Given the description of an element on the screen output the (x, y) to click on. 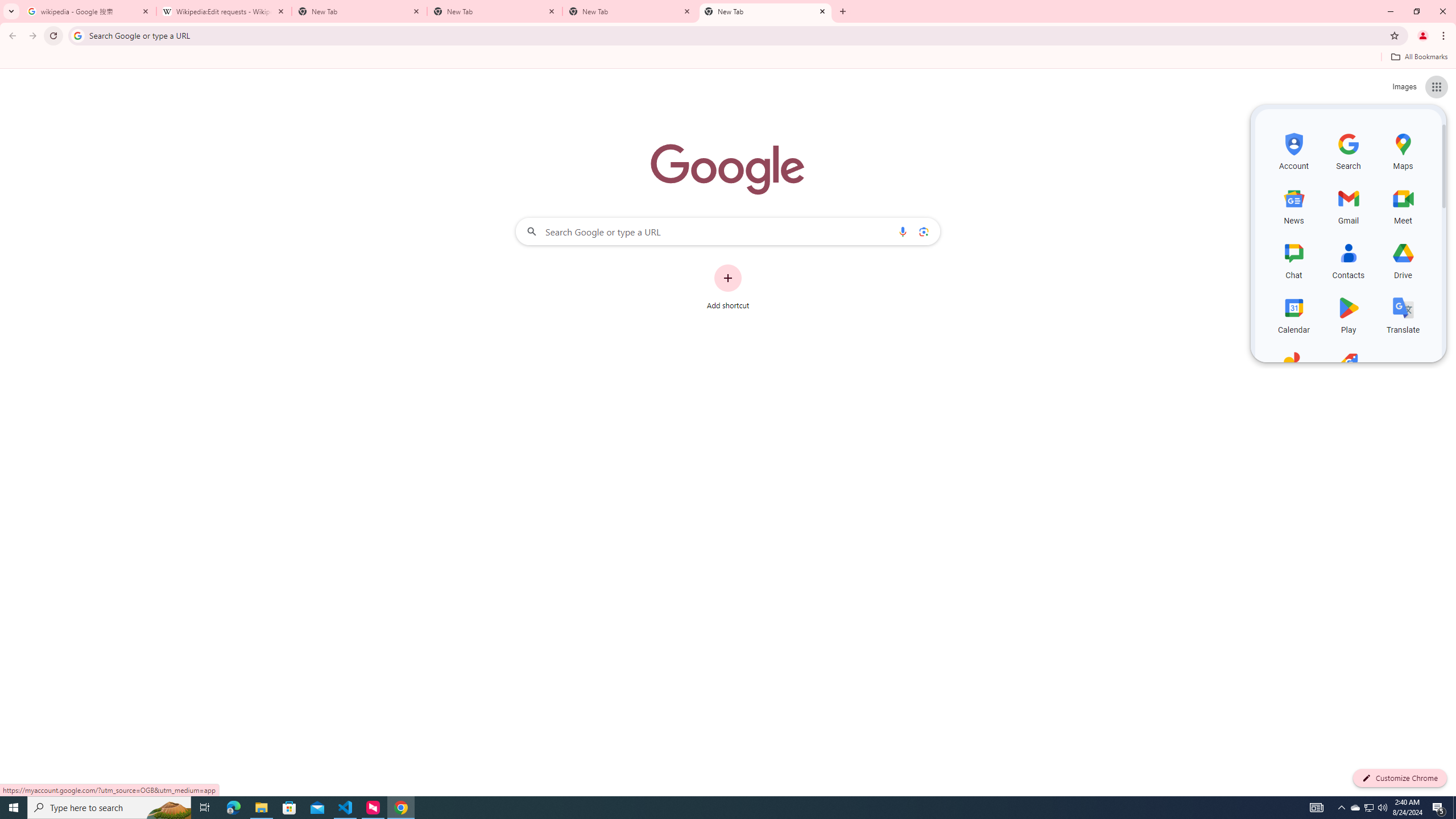
Search Google or type a URL (727, 230)
Maps, row 1 of 5 and column 3 of 3 in the first section (1402, 149)
New Tab (630, 11)
Contacts, row 3 of 5 and column 2 of 3 in the first section (1348, 259)
Translate, row 4 of 5 and column 3 of 3 in the first section (1402, 313)
Chat, row 3 of 5 and column 1 of 3 in the first section (1293, 259)
